Given the description of an element on the screen output the (x, y) to click on. 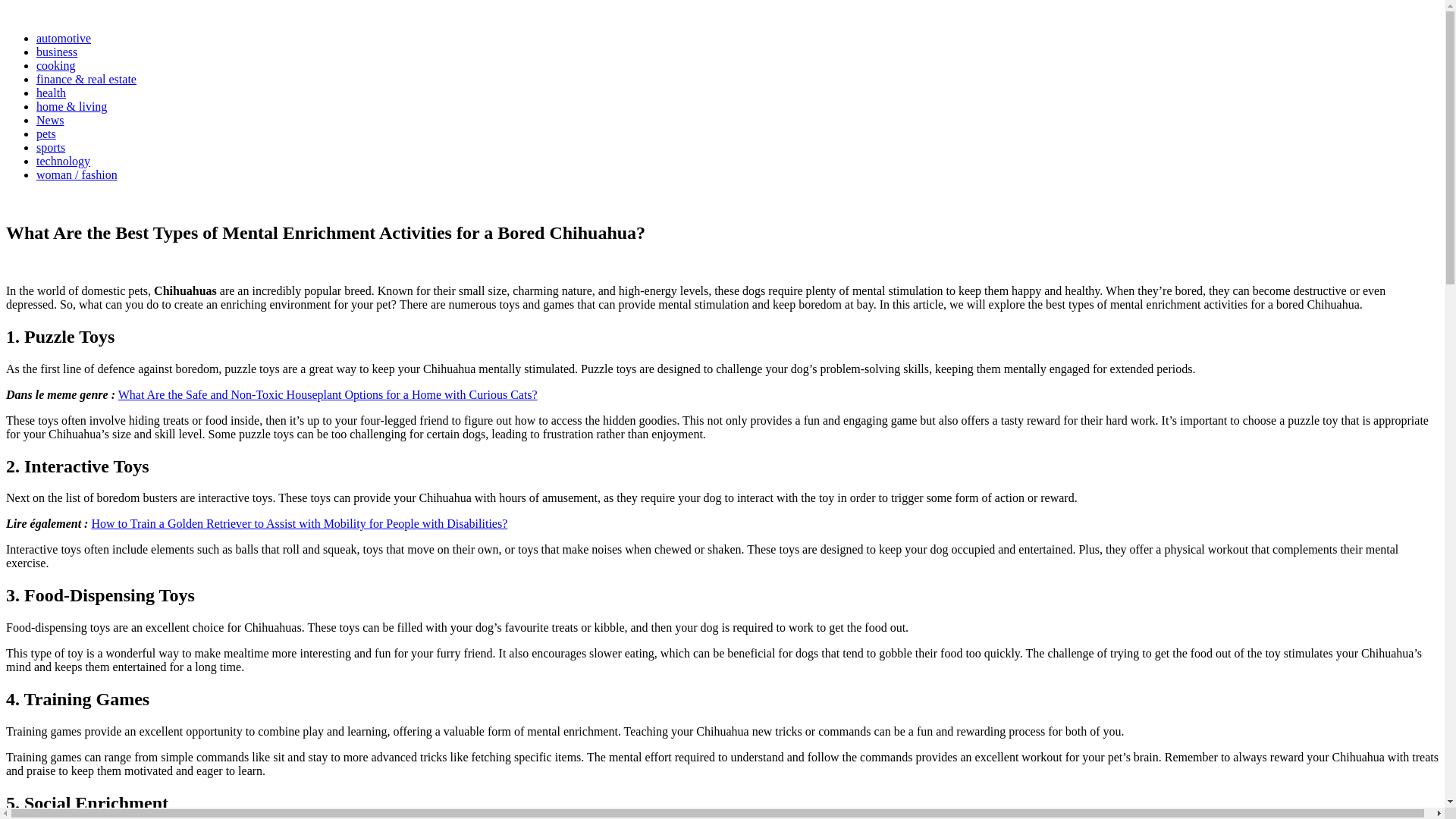
sports (50, 146)
pets (46, 133)
cooking (55, 65)
automotive (63, 38)
pets (15, 200)
business (56, 51)
